Given the description of an element on the screen output the (x, y) to click on. 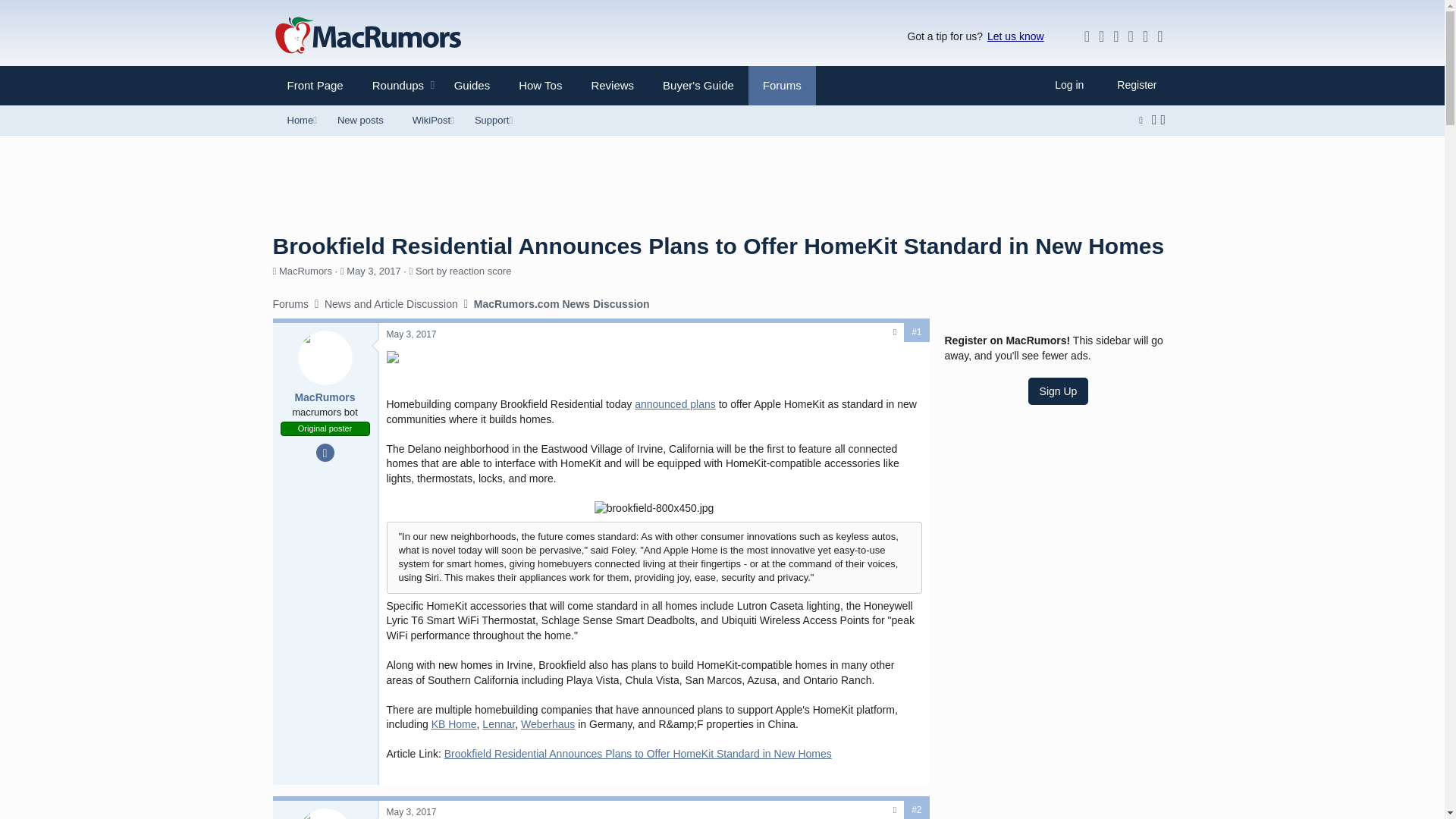
May 3, 2017 at 10:33 AM (396, 136)
Front Page (411, 811)
Start date (315, 85)
Search (392, 85)
May 3, 2017 at 10:26 AM (1154, 119)
brookfield-800x450.jpg (411, 334)
Let us know (654, 508)
May 3, 2017 at 10:26 AM (1014, 36)
